Given the description of an element on the screen output the (x, y) to click on. 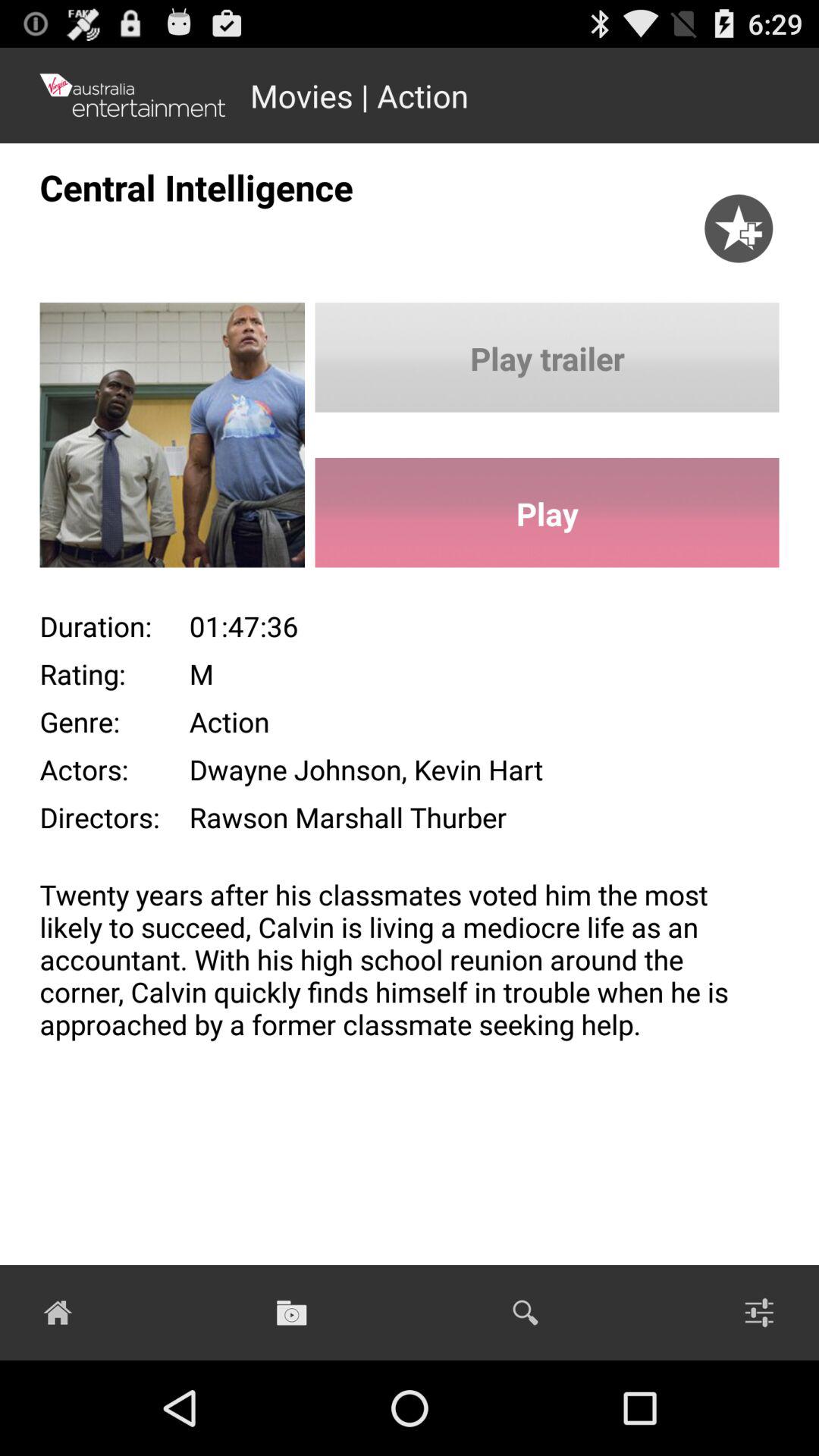
click the item at the bottom right corner (759, 1312)
